Given the description of an element on the screen output the (x, y) to click on. 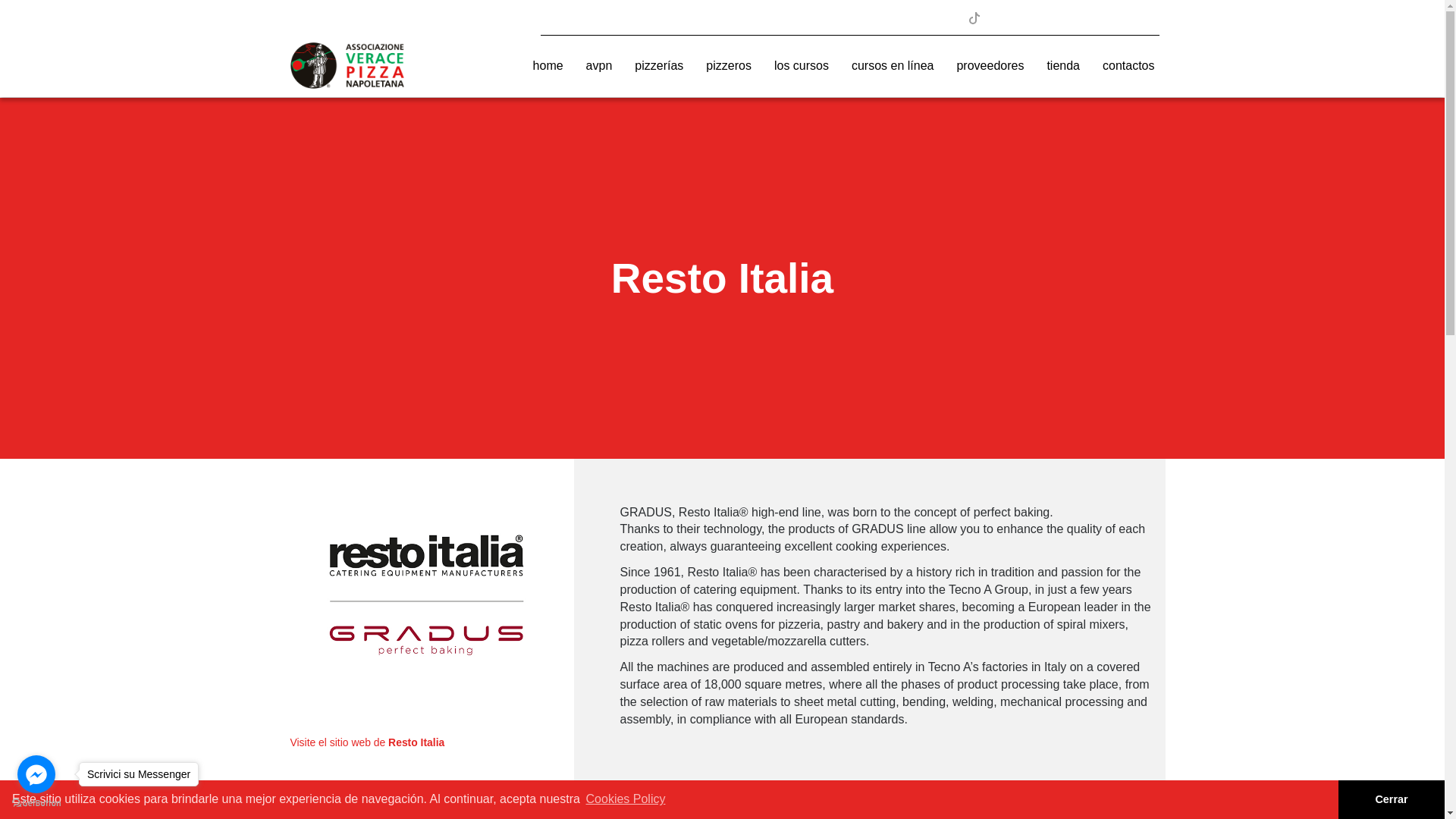
AVPN Japan (1120, 18)
pizzeros (728, 66)
proveedores (989, 66)
AVPN Australia (1144, 18)
English (1039, 18)
los cursos (801, 66)
tienda (1062, 66)
Cookies Policy (624, 798)
contactos (1128, 66)
Espagnol (1078, 18)
Italiano (1019, 18)
